Given the description of an element on the screen output the (x, y) to click on. 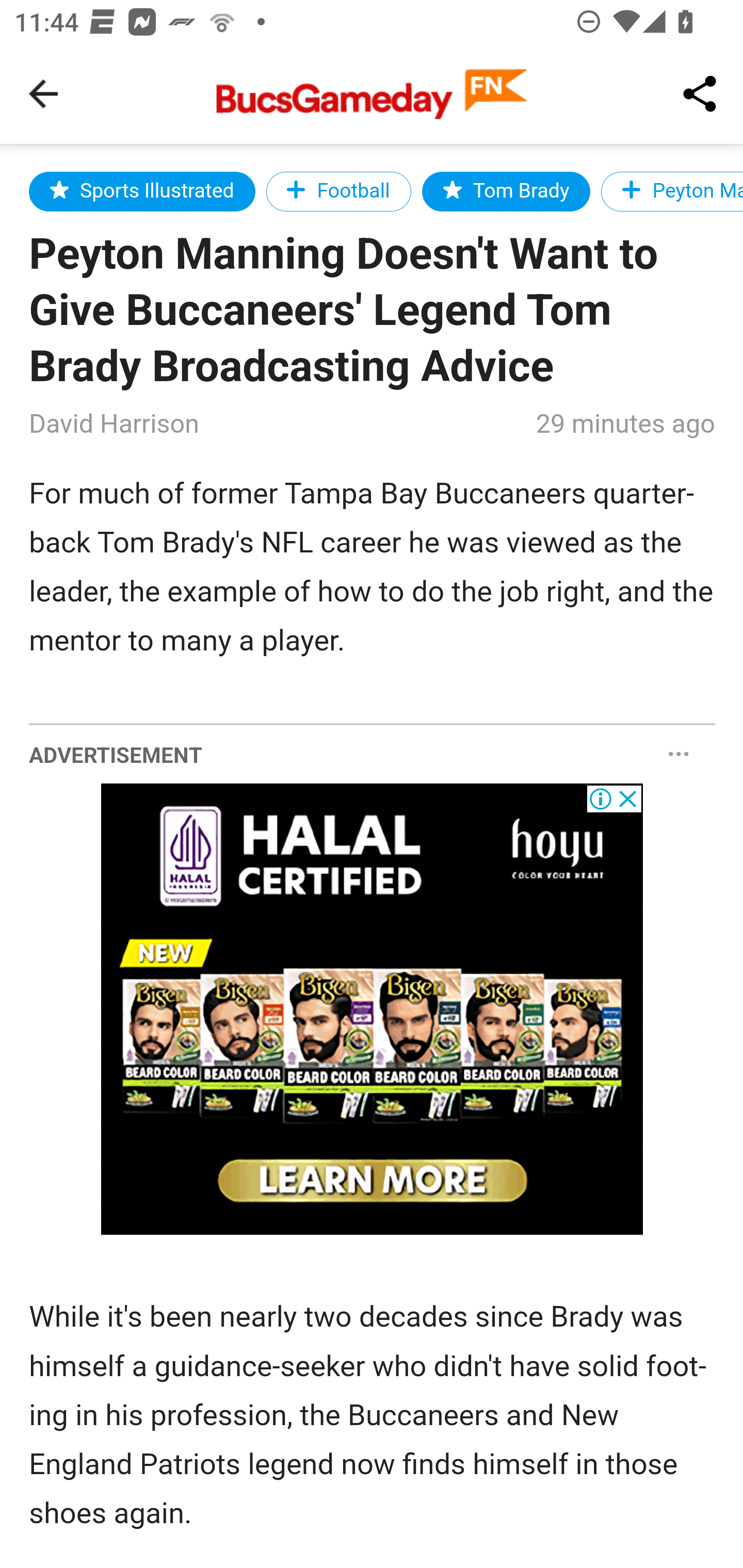
Sports Illustrated (142, 191)
Football (338, 191)
Tom Brady (506, 191)
